Given the description of an element on the screen output the (x, y) to click on. 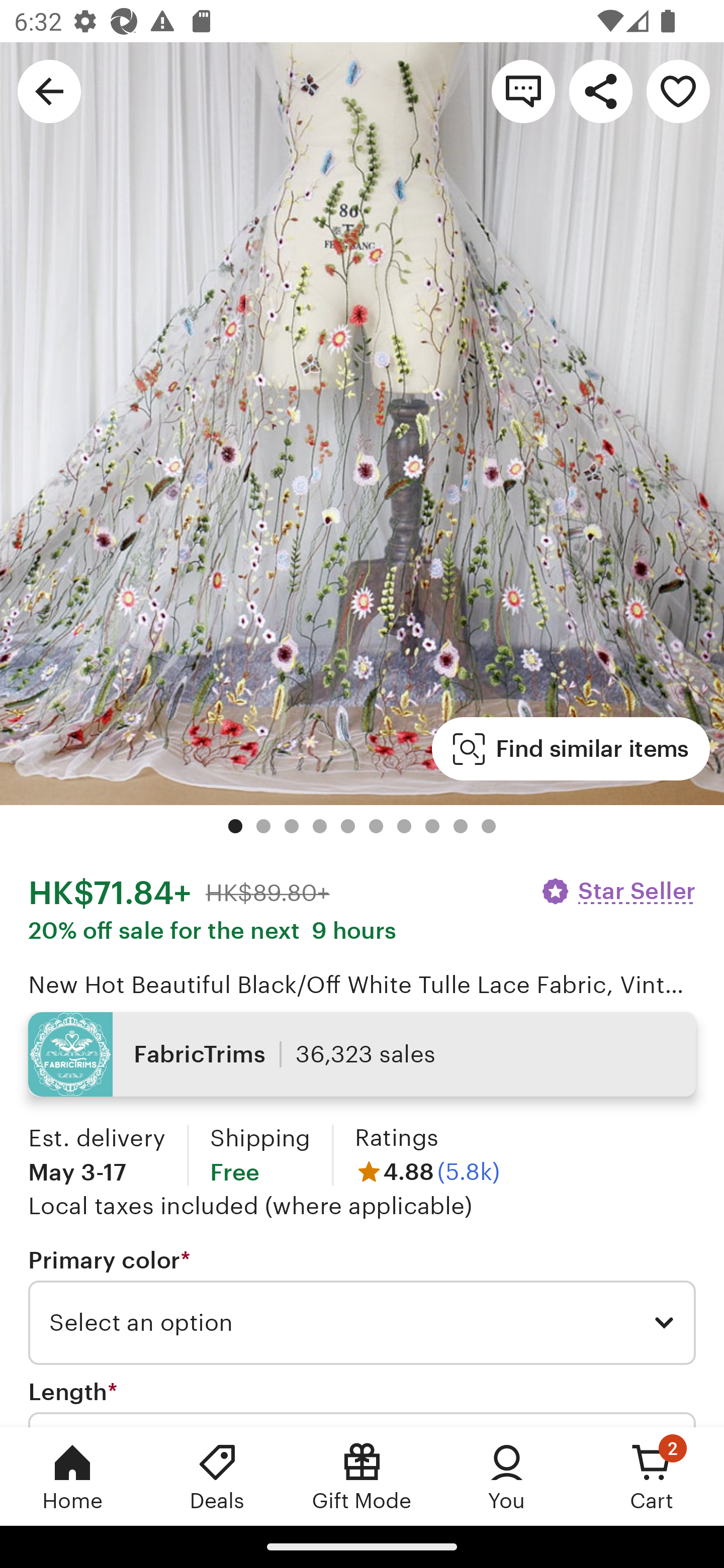
Navigate up (49, 90)
Contact shop (523, 90)
Share (600, 90)
Find similar items (571, 748)
Star Seller (617, 890)
FabricTrims 36,323 sales (361, 1054)
Ratings (396, 1137)
4.88 (5.8k) (427, 1171)
Primary color * Required Select an option (361, 1306)
Select an option (361, 1323)
Length * Required Select an option (361, 1402)
Deals (216, 1475)
Gift Mode (361, 1475)
You (506, 1475)
Cart, 2 new notifications Cart (651, 1475)
